Given the description of an element on the screen output the (x, y) to click on. 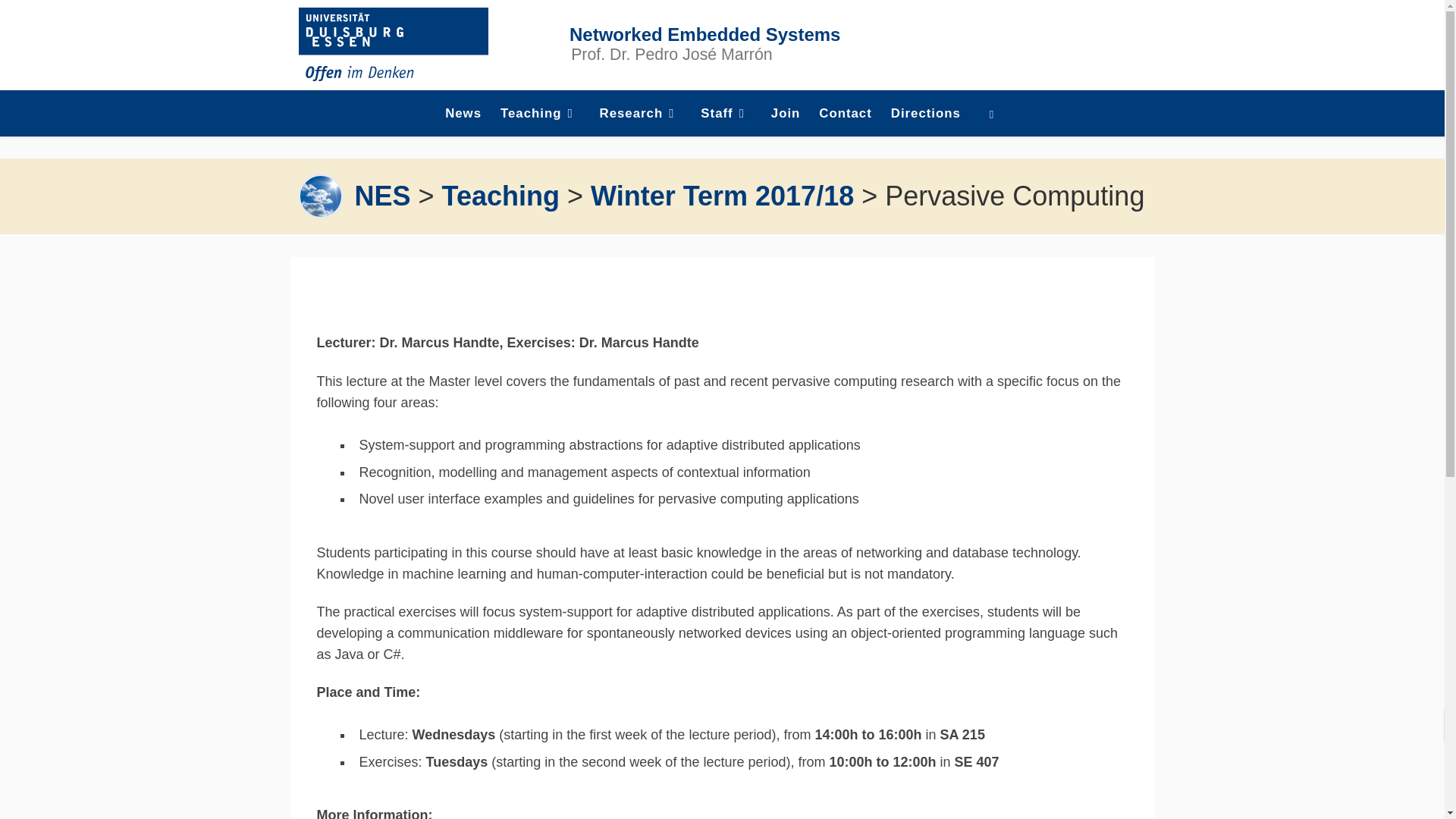
Networked Embedded Systems (382, 195)
Research (639, 113)
Staff (726, 113)
News (463, 113)
Join (786, 113)
Contact (844, 113)
Teaching (500, 195)
Directions (926, 113)
Skip to content (60, 20)
Teaching (540, 113)
